Given the description of an element on the screen output the (x, y) to click on. 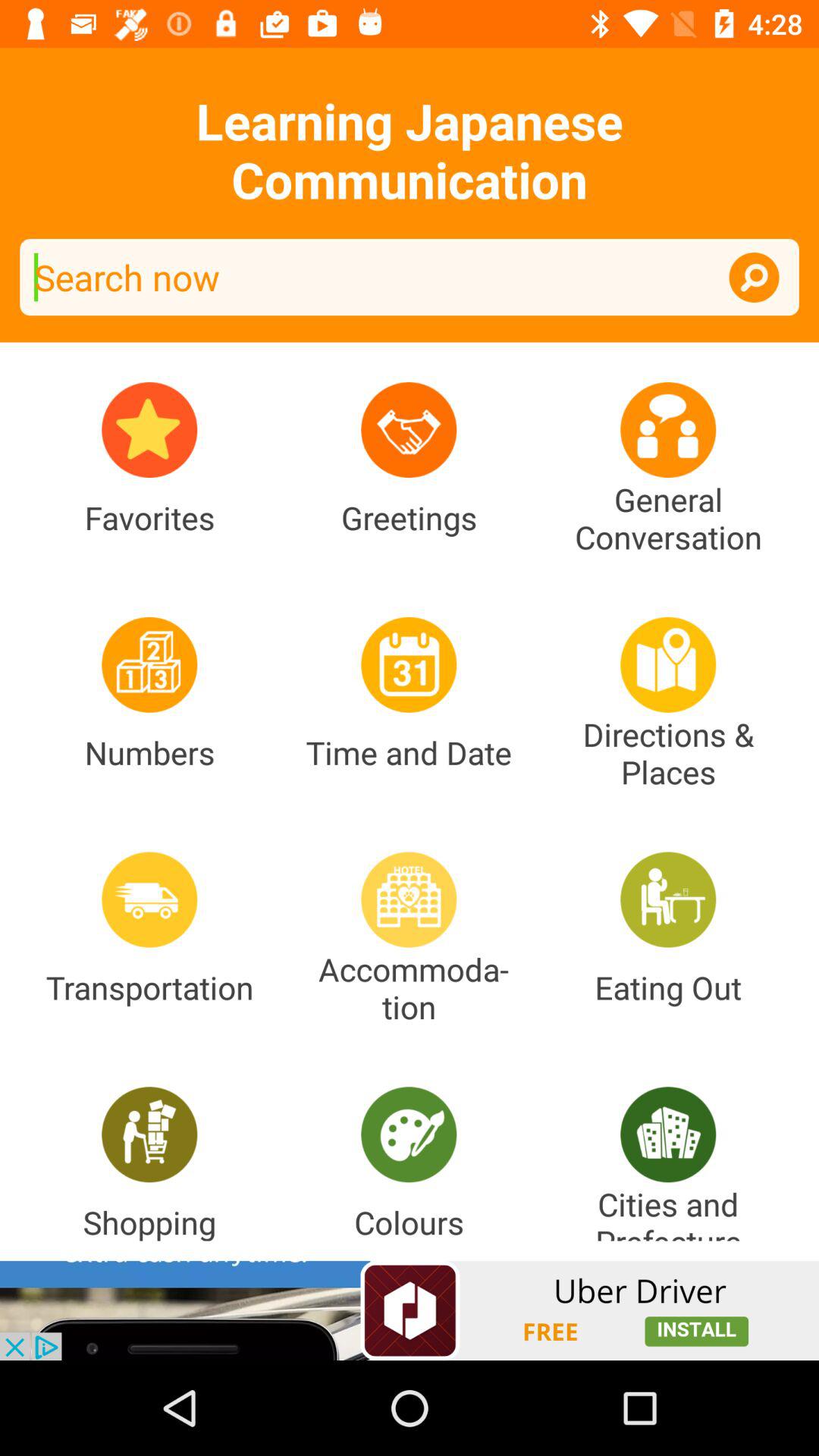
activate the search (754, 277)
